Given the description of an element on the screen output the (x, y) to click on. 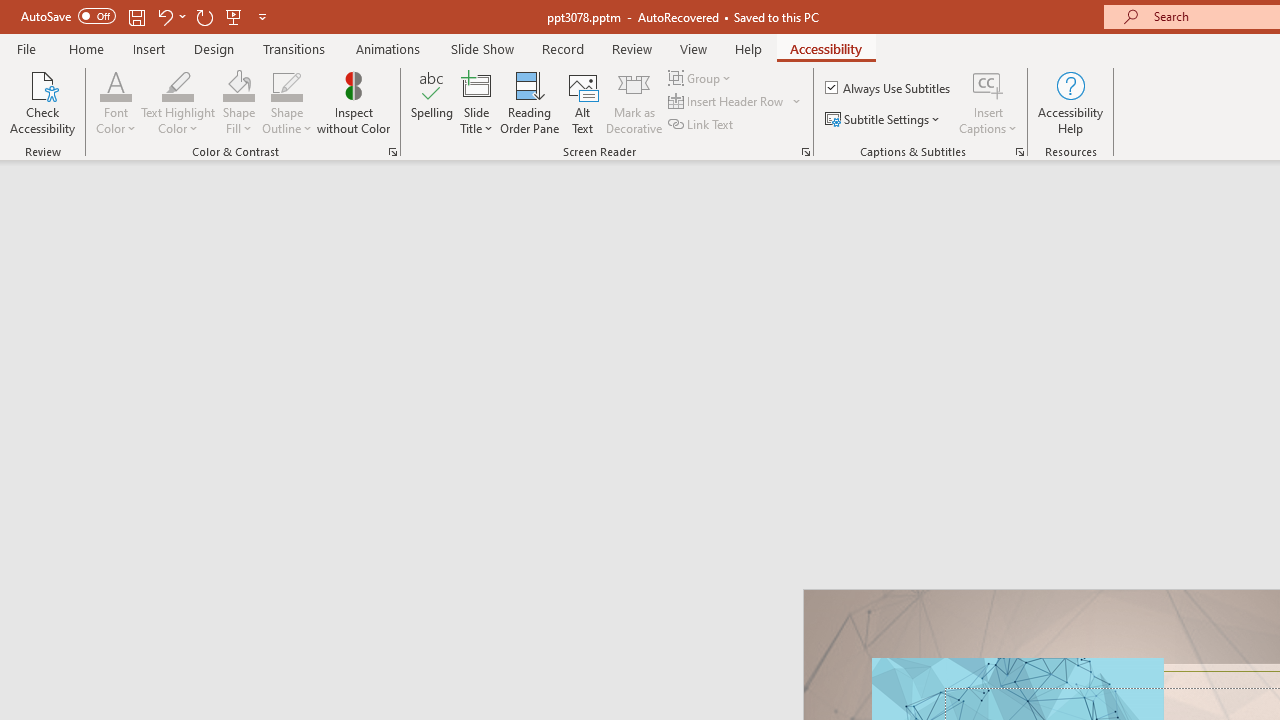
Shape Outline (286, 84)
Reading Order Pane (529, 102)
Slide Title (476, 84)
Spelling... (432, 102)
Captions & Subtitles (1019, 151)
